Given the description of an element on the screen output the (x, y) to click on. 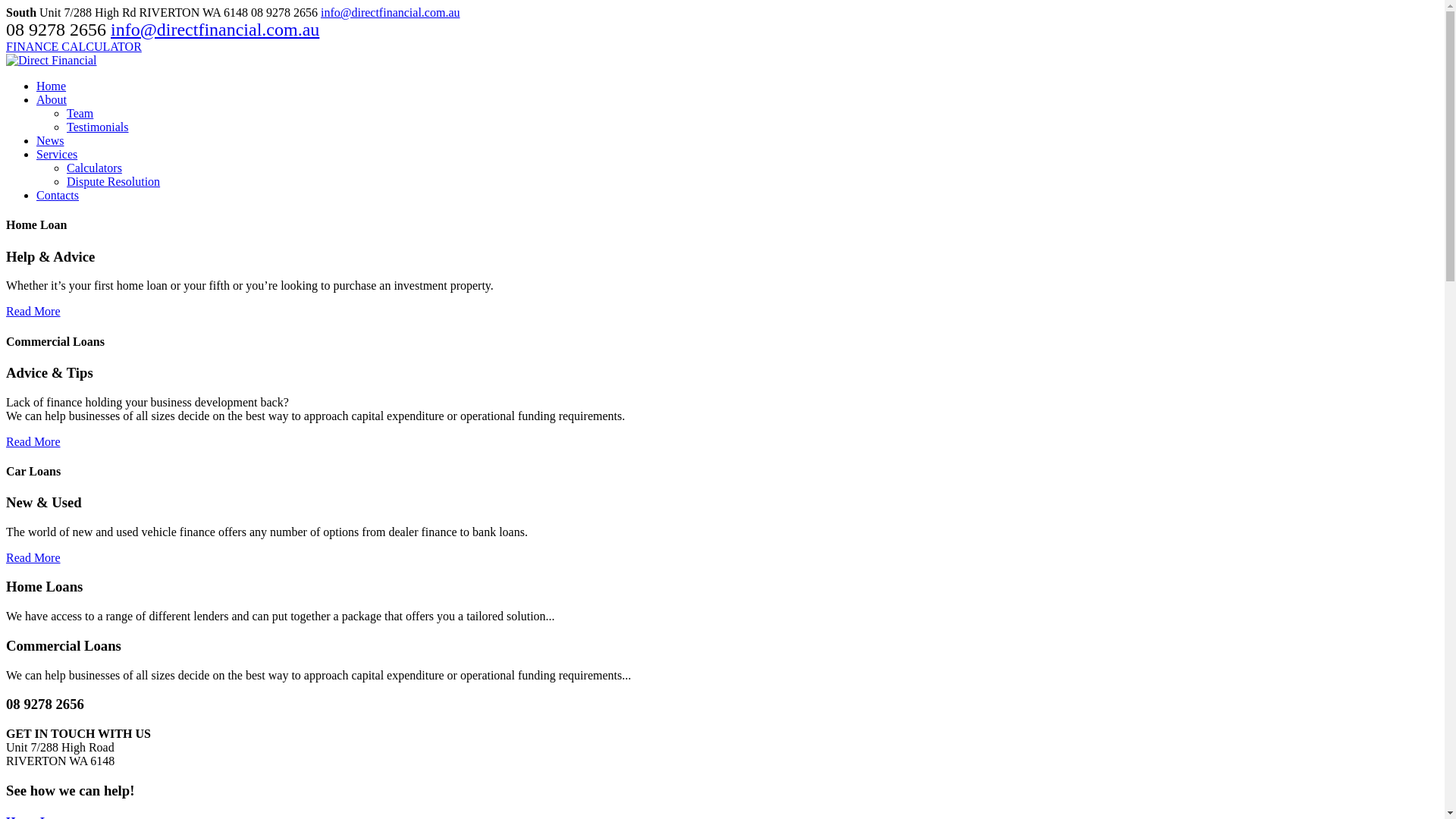
Calculators Element type: text (94, 167)
Services Element type: text (56, 153)
Team Element type: text (79, 112)
Home Element type: text (50, 85)
info@directfinancial.com.au Element type: text (390, 12)
News Element type: text (49, 140)
Testimonials Element type: text (97, 126)
FINANCE CALCULATOR Element type: text (73, 46)
Read More Element type: text (33, 557)
Contacts Element type: text (57, 194)
Read More Element type: text (33, 310)
About Element type: text (51, 99)
info@directfinancial.com.au Element type: text (214, 29)
Read More Element type: text (33, 441)
Dispute Resolution Element type: text (113, 181)
